Given the description of an element on the screen output the (x, y) to click on. 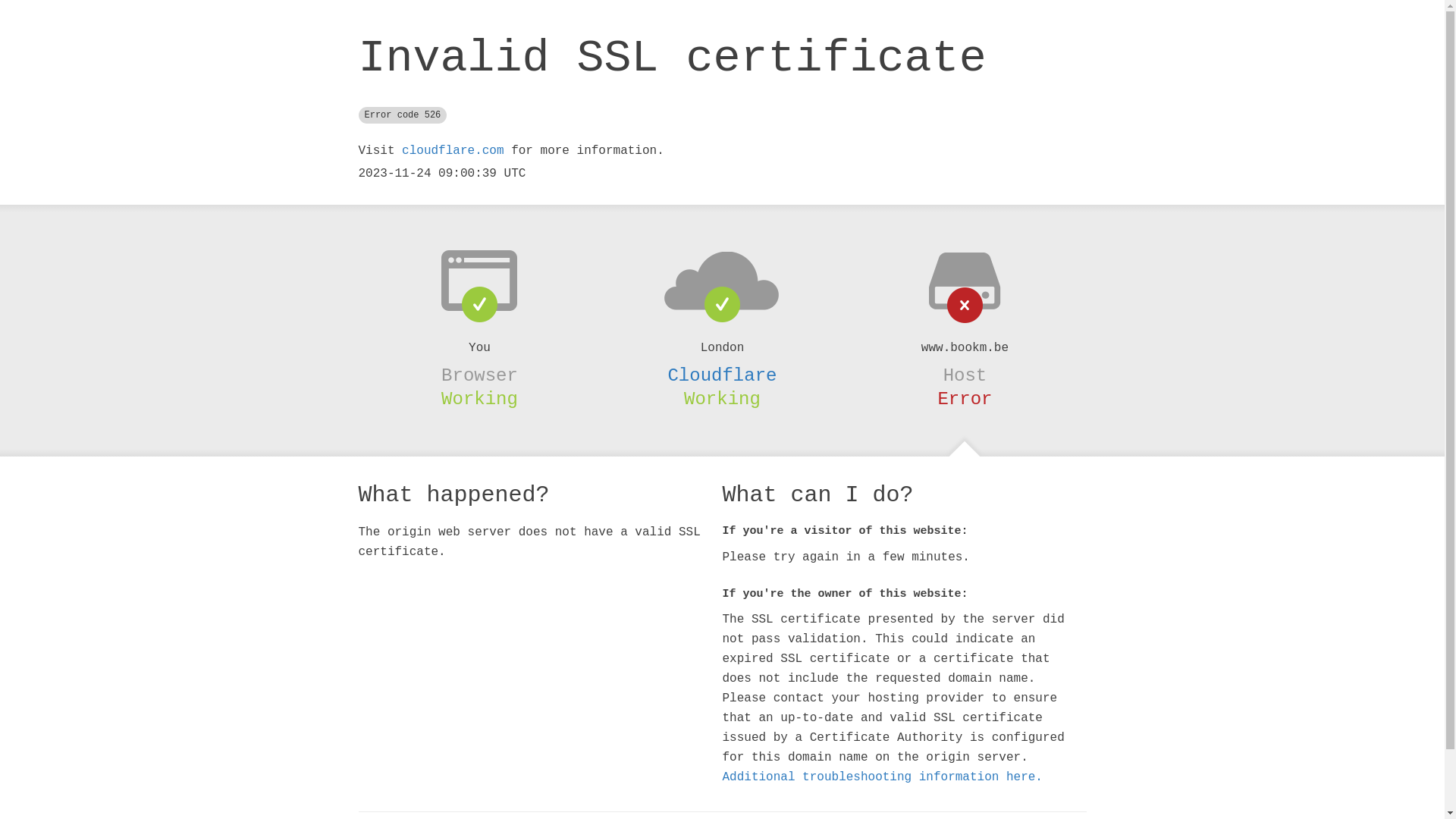
Additional troubleshooting information here. Element type: text (881, 777)
cloudflare.com Element type: text (452, 150)
Cloudflare Element type: text (721, 375)
